Given the description of an element on the screen output the (x, y) to click on. 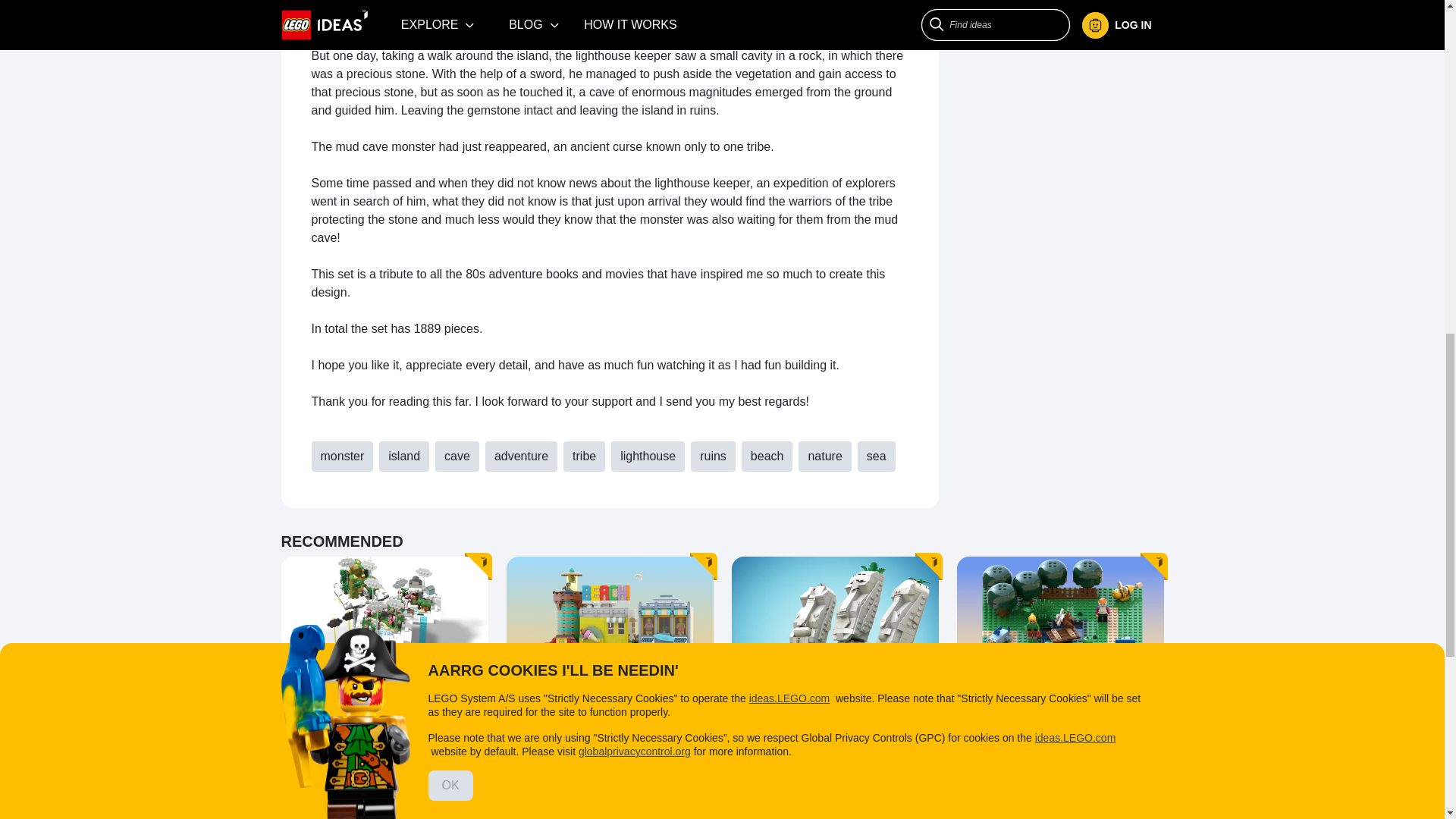
Beachside Shops (609, 720)
The Skylands (383, 720)
